Given the description of an element on the screen output the (x, y) to click on. 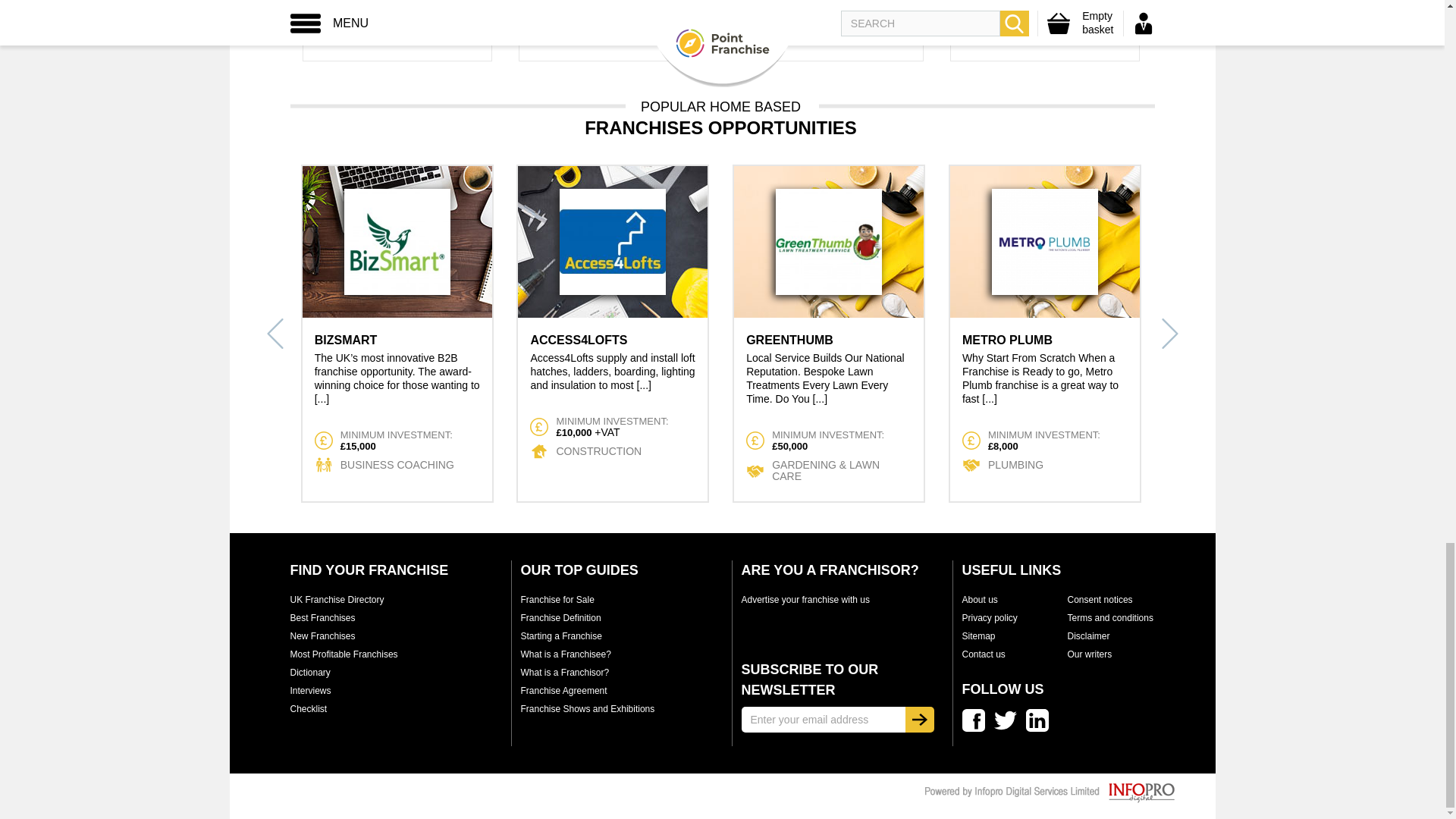
Find the most profitable UK franchises (343, 654)
Dictionary (309, 672)
Discover the newest franchises (322, 635)
The full UK franchise directory (336, 599)
Discover UK's best franchises (322, 617)
Interviews (309, 690)
Checklist (307, 708)
